Given the description of an element on the screen output the (x, y) to click on. 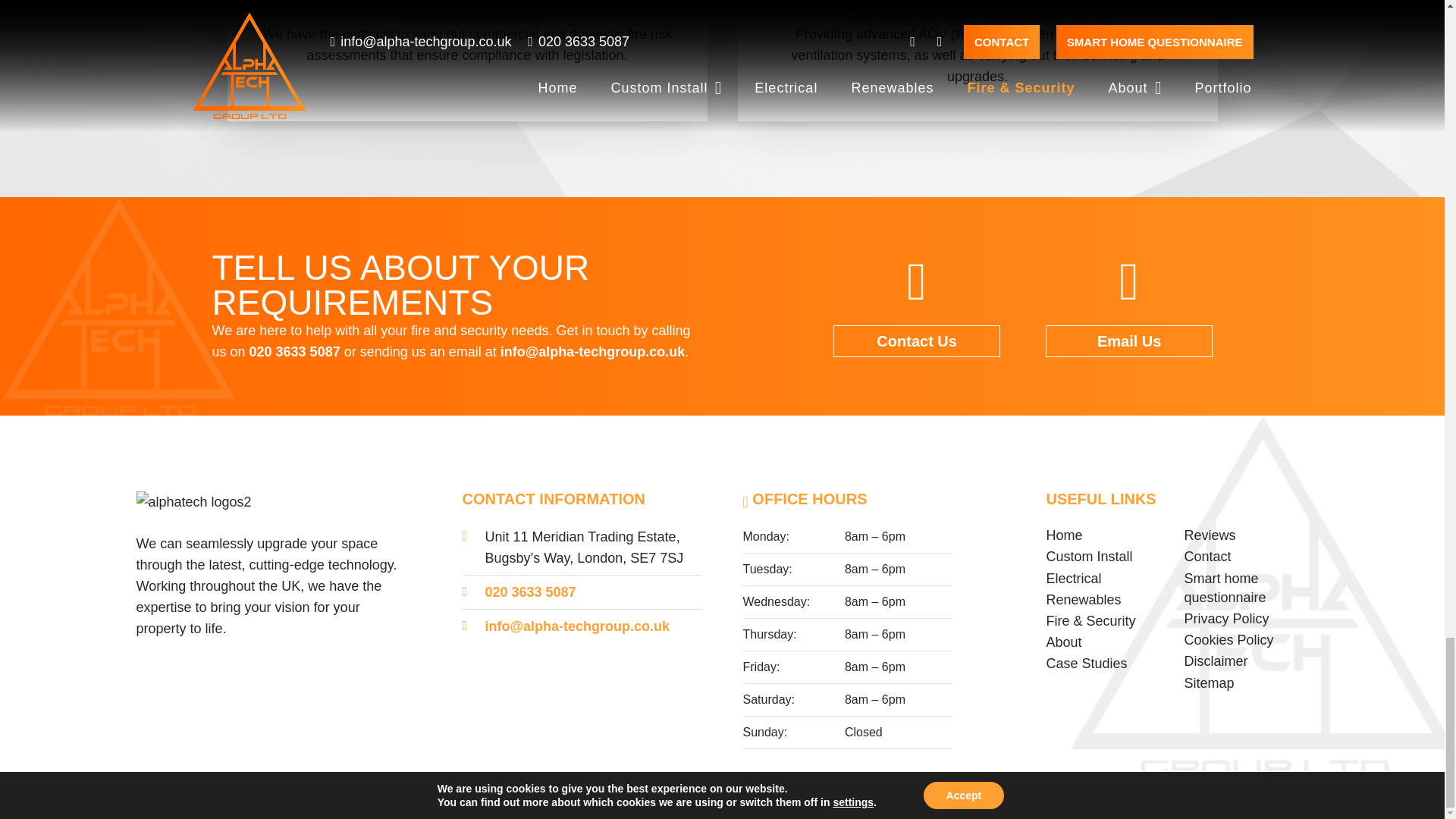
Home (1064, 534)
Email Us (1128, 341)
Make Me Local (909, 799)
020 3633 5087 (530, 592)
Renewables (1083, 599)
Electrical (1074, 578)
Contact Us (916, 341)
020 3633 5087 (294, 351)
Custom Install (1089, 556)
